Given the description of an element on the screen output the (x, y) to click on. 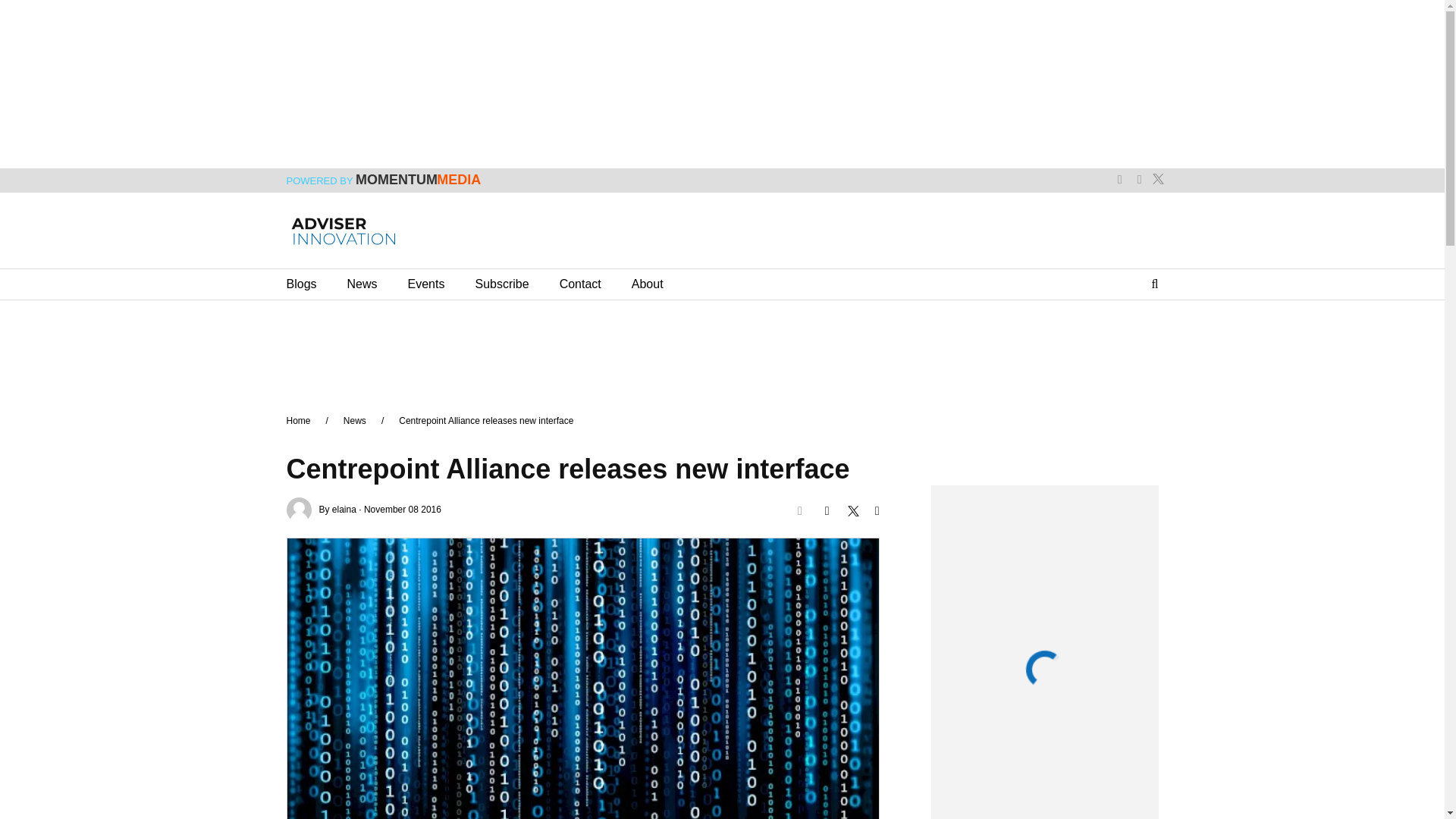
About (647, 283)
Home (298, 420)
News (354, 420)
Subscribe (501, 283)
Events (426, 283)
News (362, 283)
POWERED BY MOMENTUM MEDIA (383, 181)
Contact (580, 283)
Blogs (301, 283)
